Given the description of an element on the screen output the (x, y) to click on. 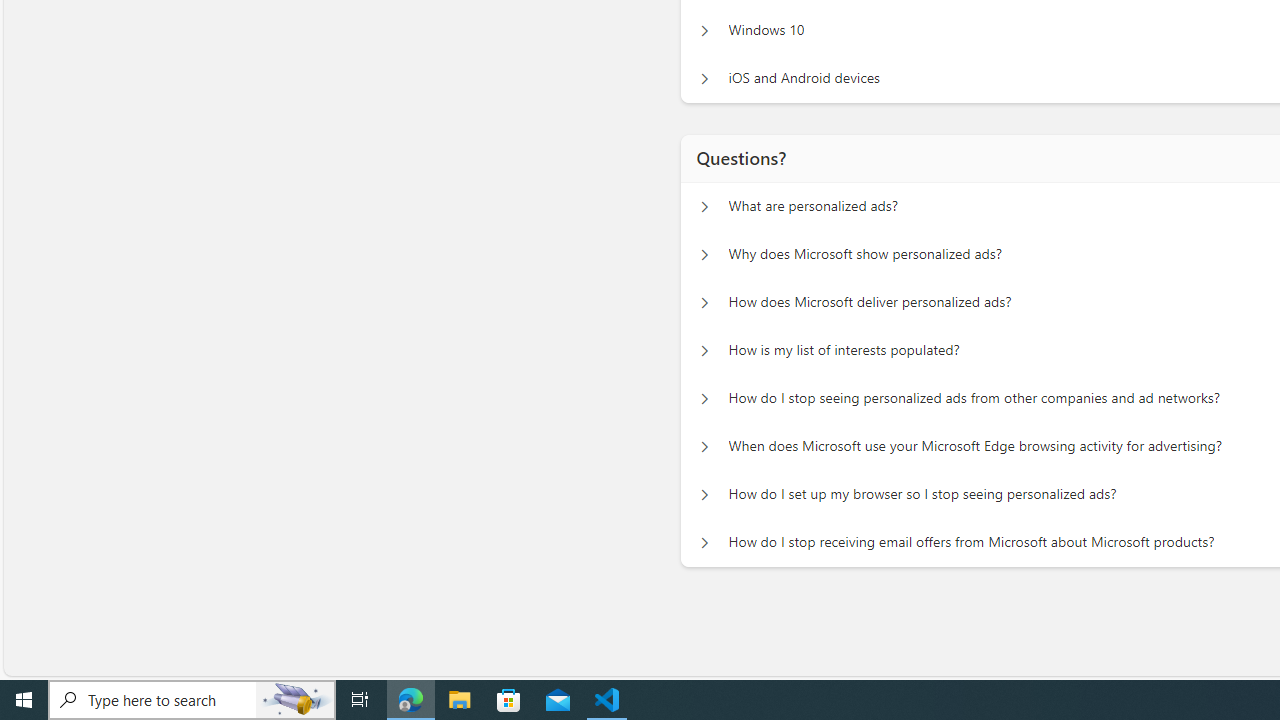
Manage personalized ads on your device Windows 10 (704, 30)
Questions? How does Microsoft deliver personalized ads? (704, 302)
Questions? How is my list of interests populated? (704, 350)
Questions? What are personalized ads? (704, 206)
Questions? Why does Microsoft show personalized ads? (704, 255)
